Given the description of an element on the screen output the (x, y) to click on. 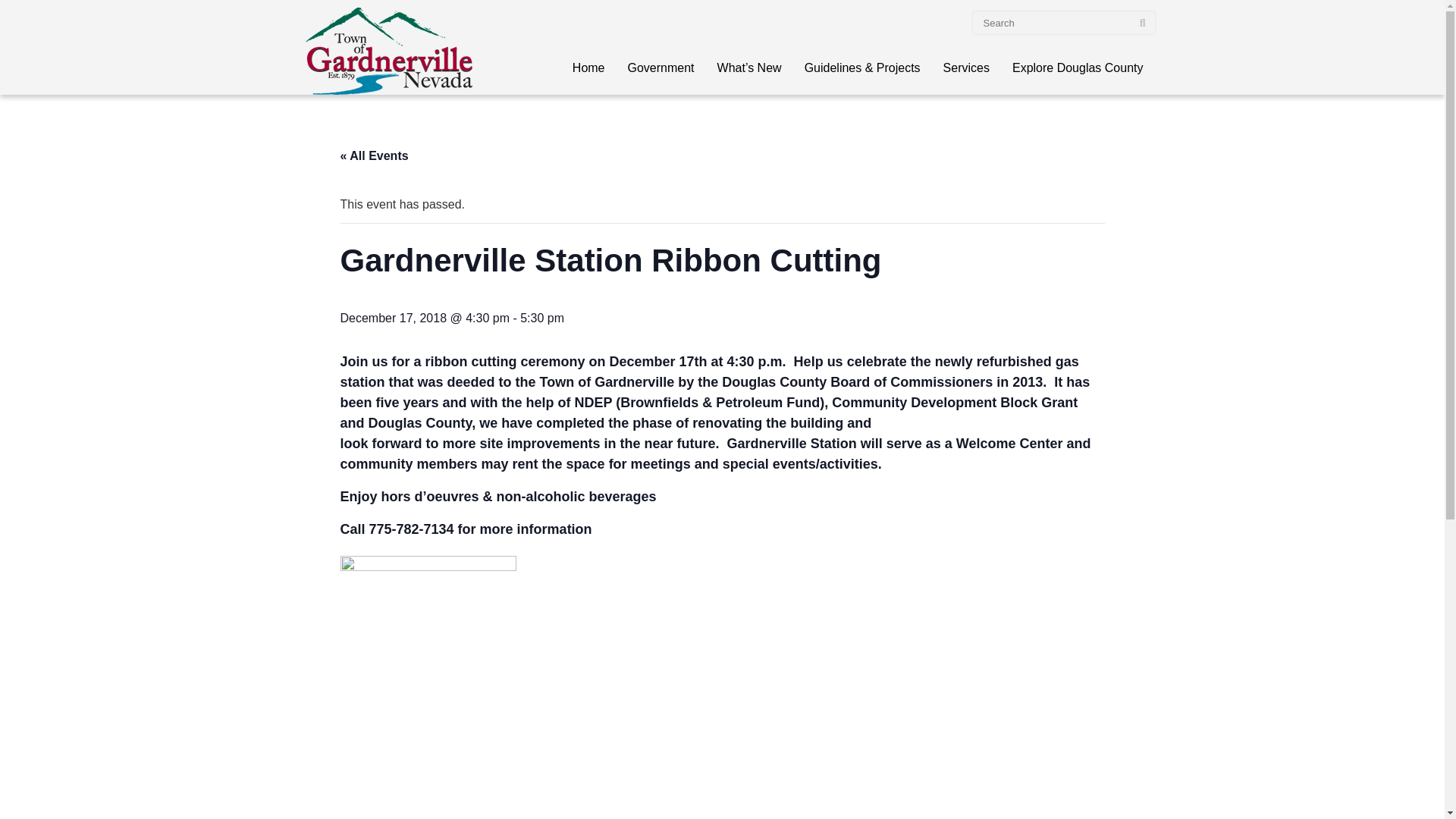
Services (966, 68)
Government (660, 68)
Explore Douglas County (1077, 68)
Home (587, 68)
